Given the description of an element on the screen output the (x, y) to click on. 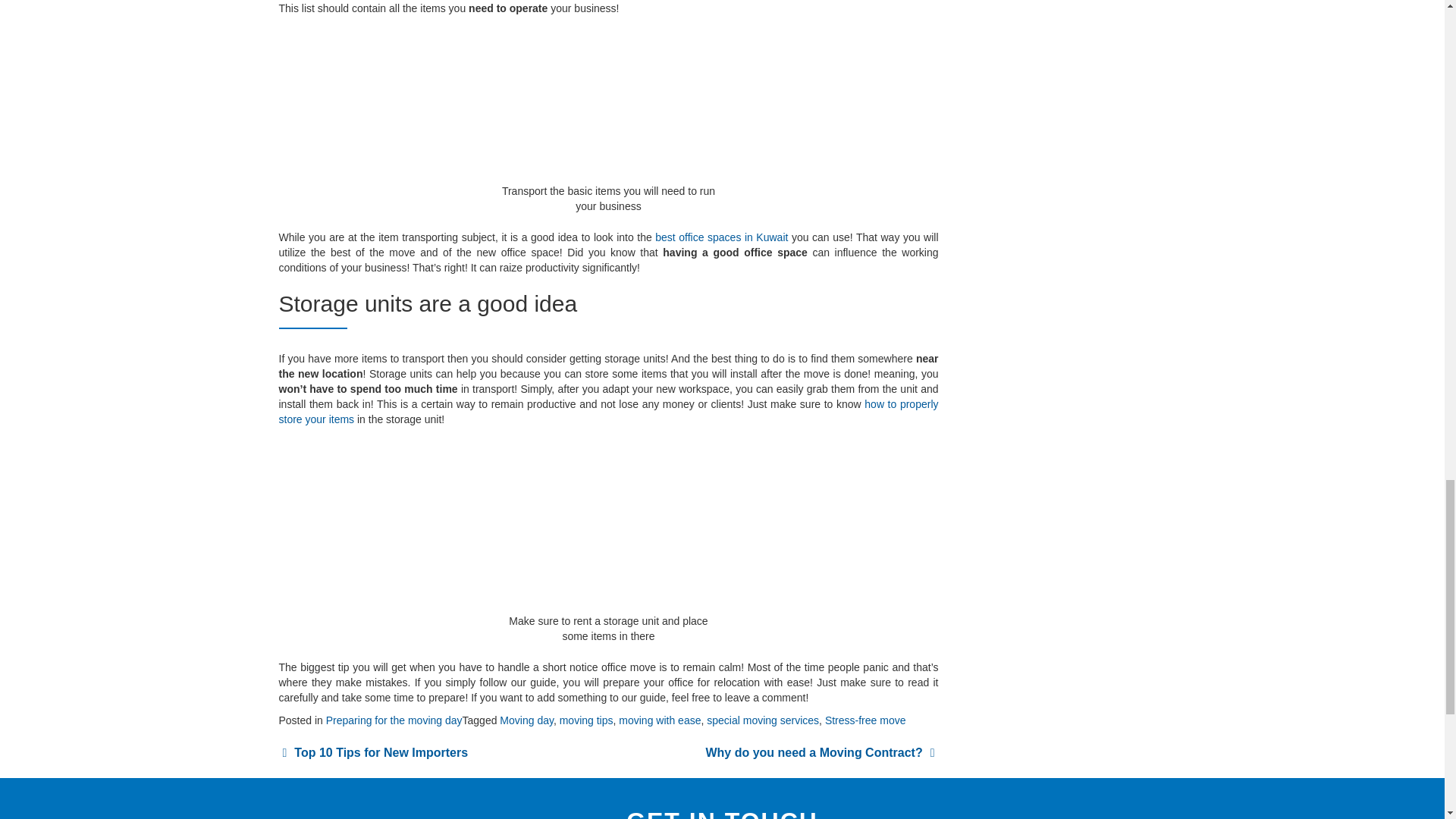
how to properly store your items (609, 411)
best office spaces in Kuwait (721, 236)
Preparing for the moving day (394, 720)
